Given the description of an element on the screen output the (x, y) to click on. 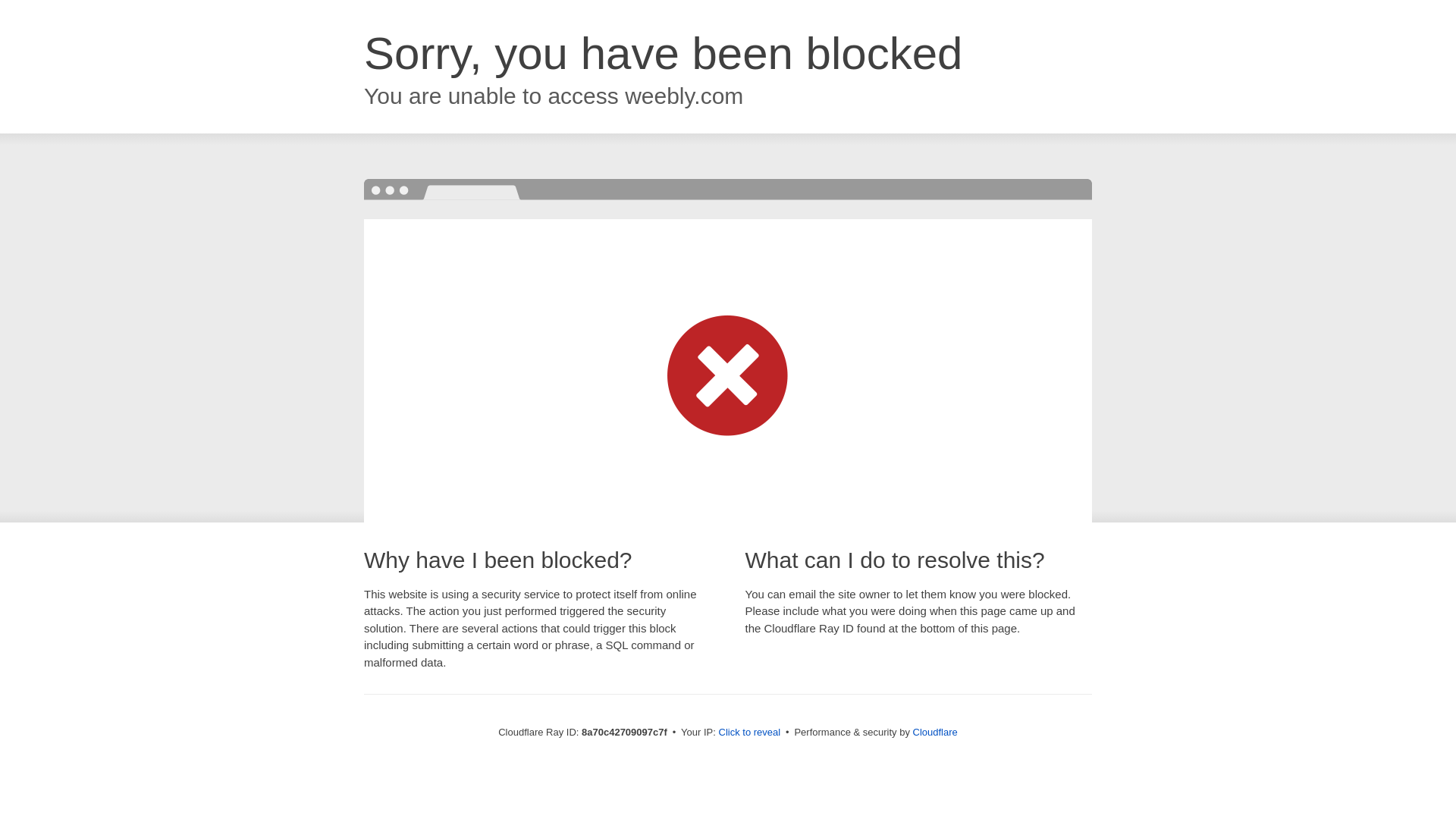
Cloudflare (935, 731)
Click to reveal (749, 732)
